Given the description of an element on the screen output the (x, y) to click on. 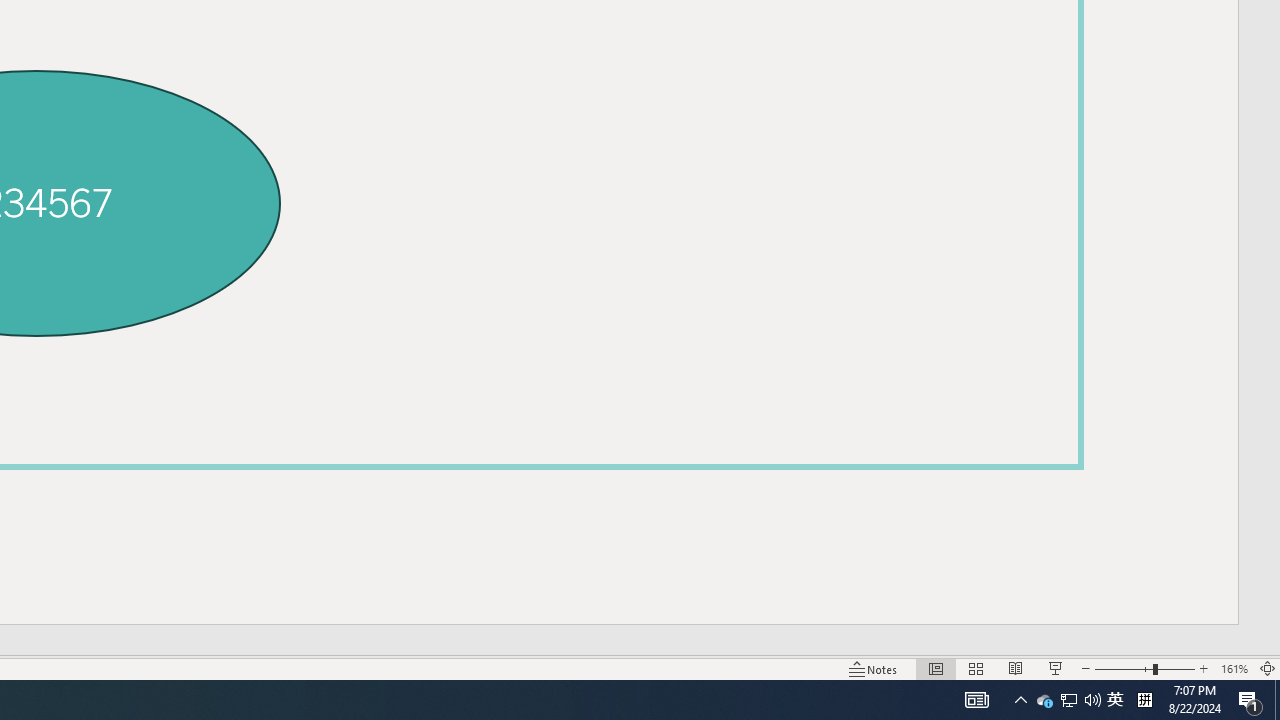
Zoom 161% (1234, 668)
